Given the description of an element on the screen output the (x, y) to click on. 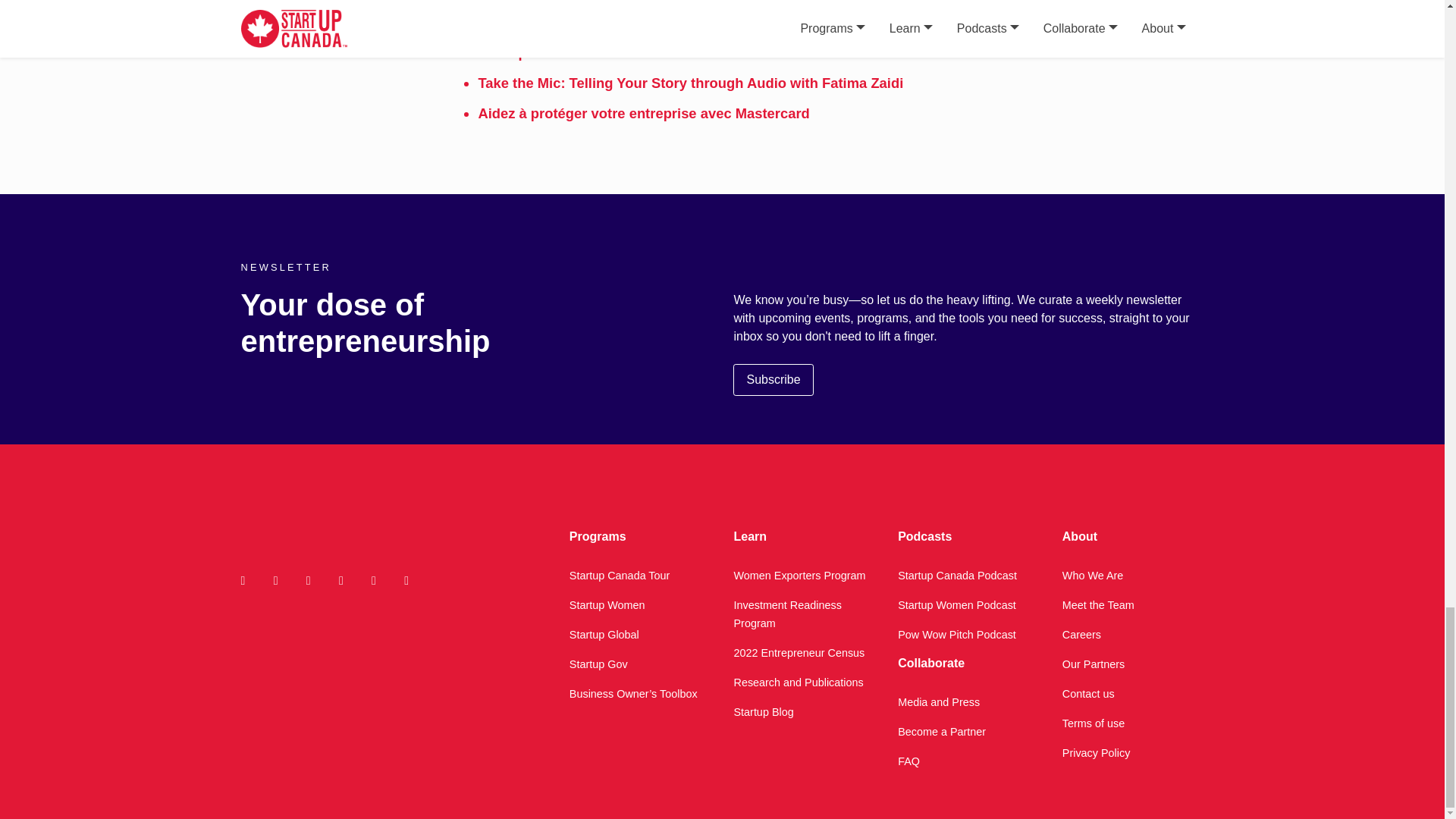
Startup Canada Announces New Board Members (639, 51)
